Given the description of an element on the screen output the (x, y) to click on. 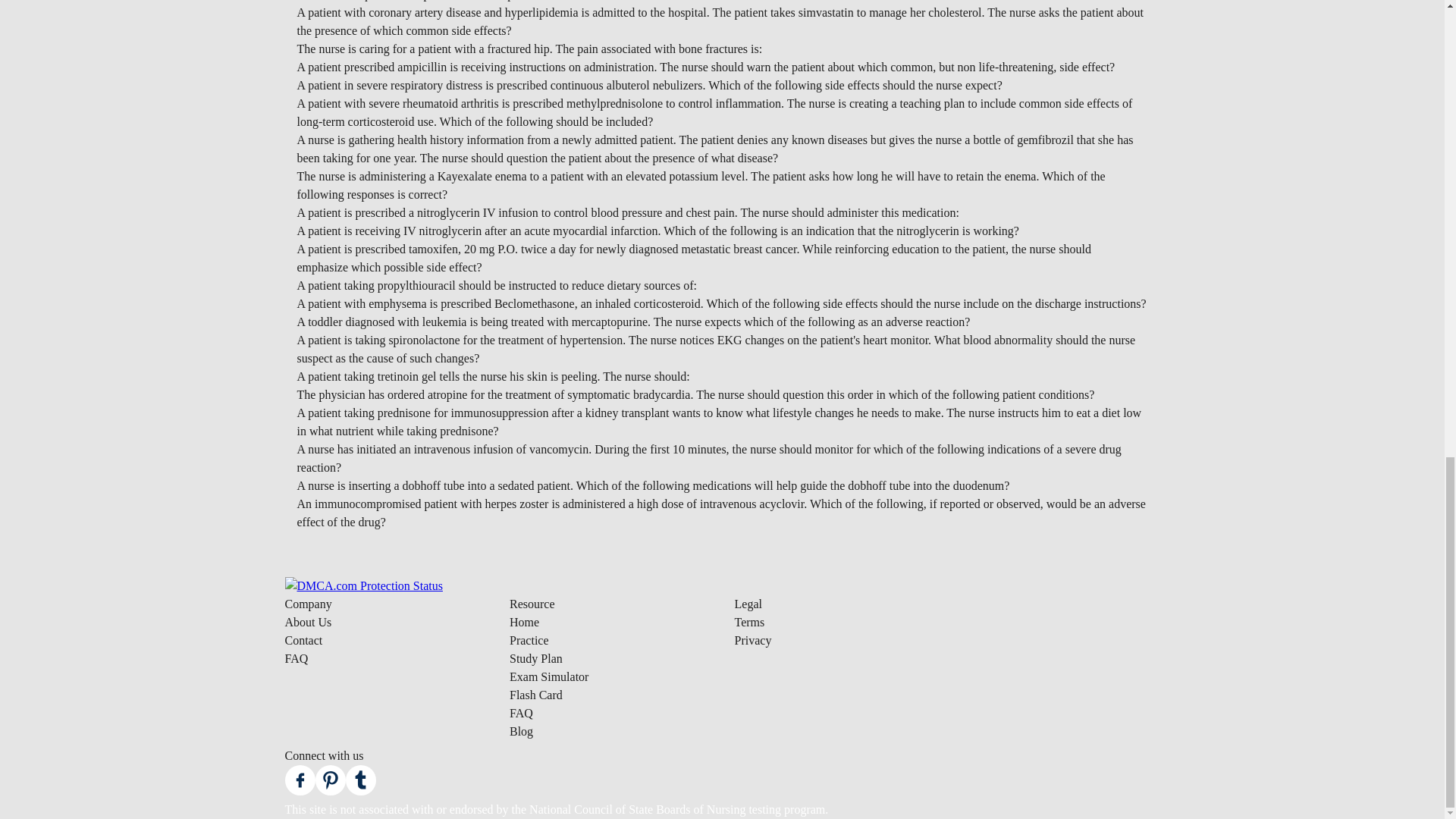
DMCA.com Protection Status (363, 585)
